Given the description of an element on the screen output the (x, y) to click on. 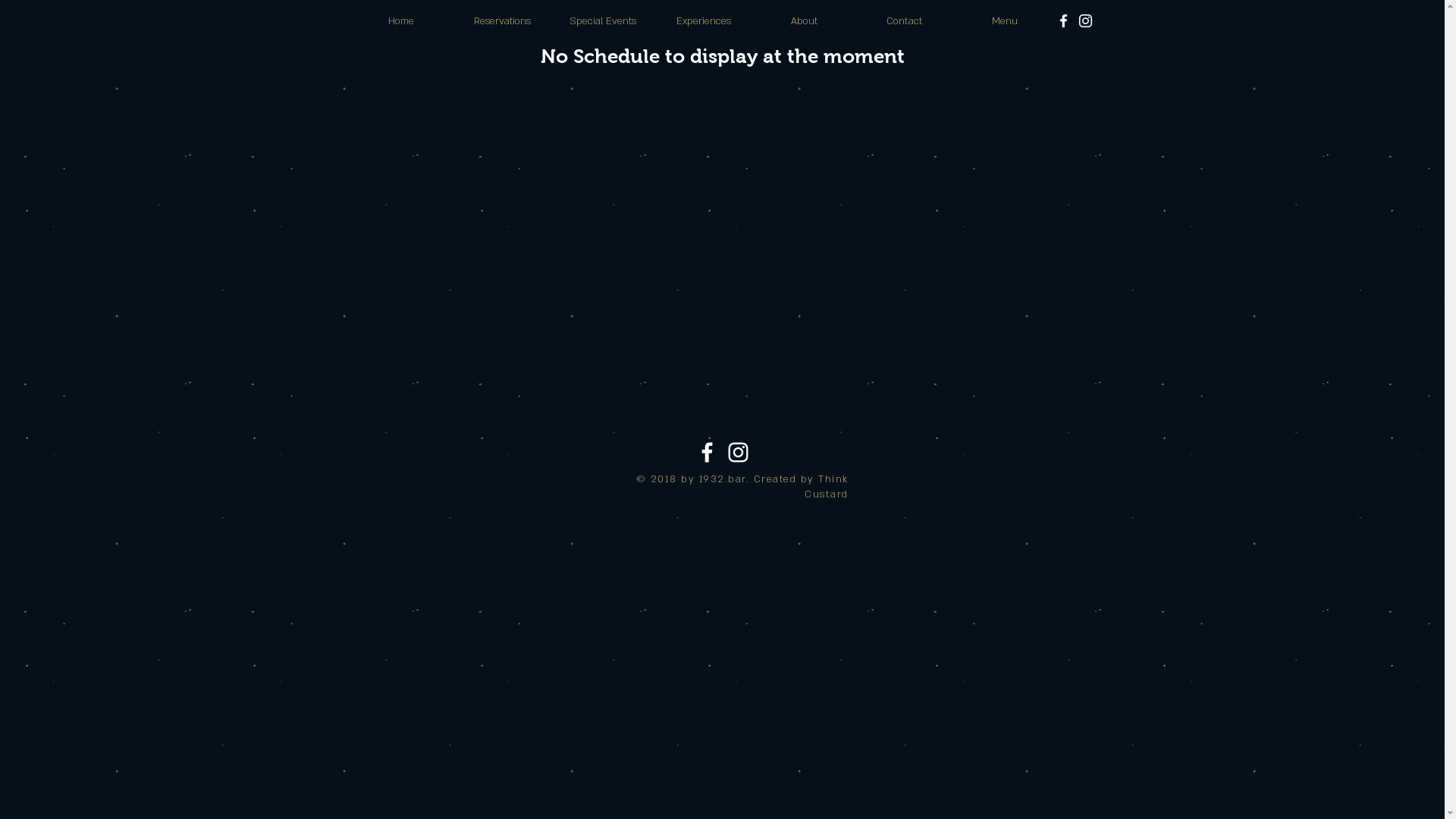
Contact Element type: text (903, 21)
Home Element type: text (400, 21)
Special Events Element type: text (602, 21)
Experiences Element type: text (703, 21)
Reservations Element type: text (501, 21)
About Element type: text (803, 21)
Think Custard Element type: text (826, 486)
Menu Element type: text (1003, 21)
